Given the description of an element on the screen output the (x, y) to click on. 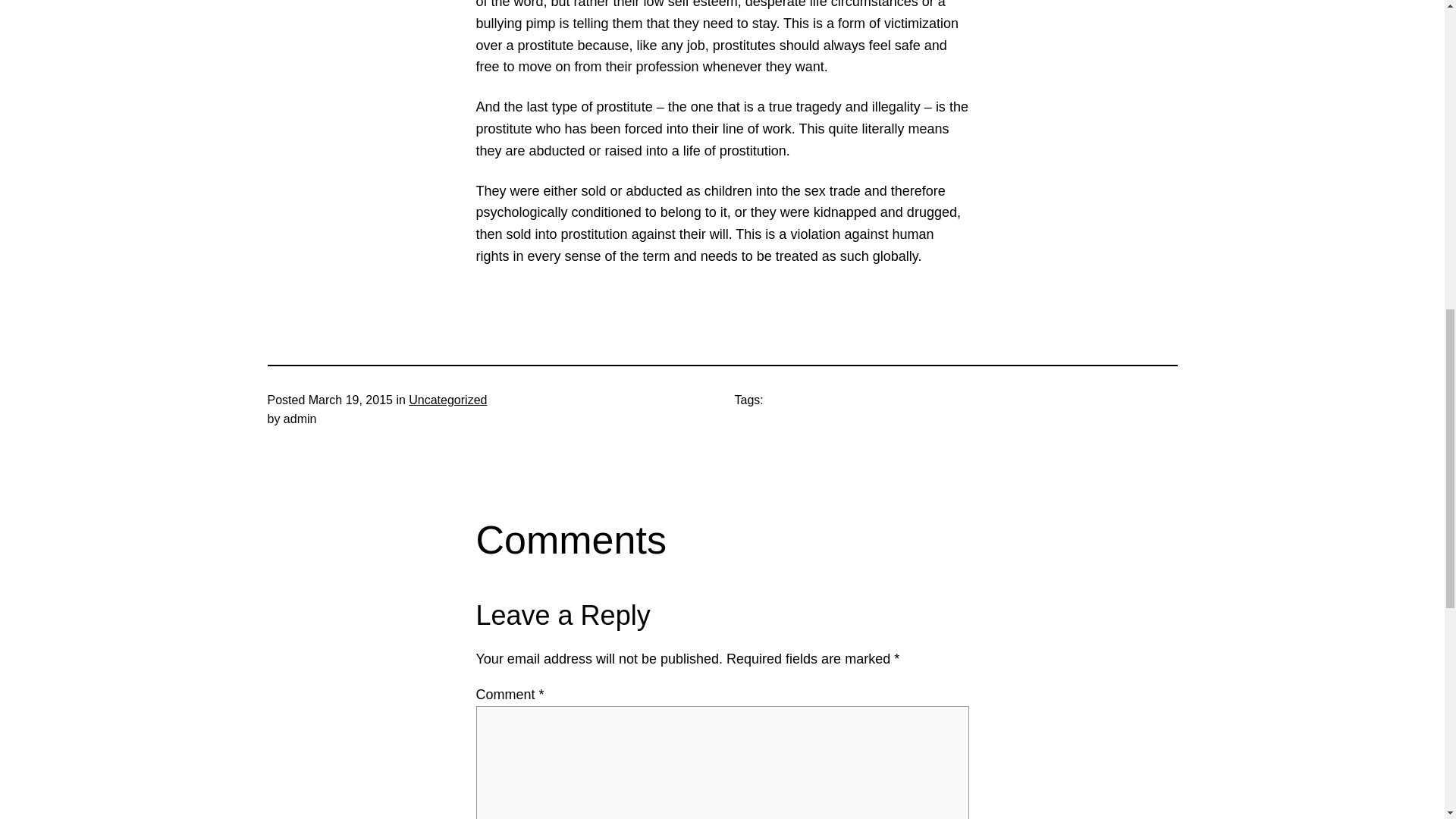
Uncategorized (447, 399)
